Given the description of an element on the screen output the (x, y) to click on. 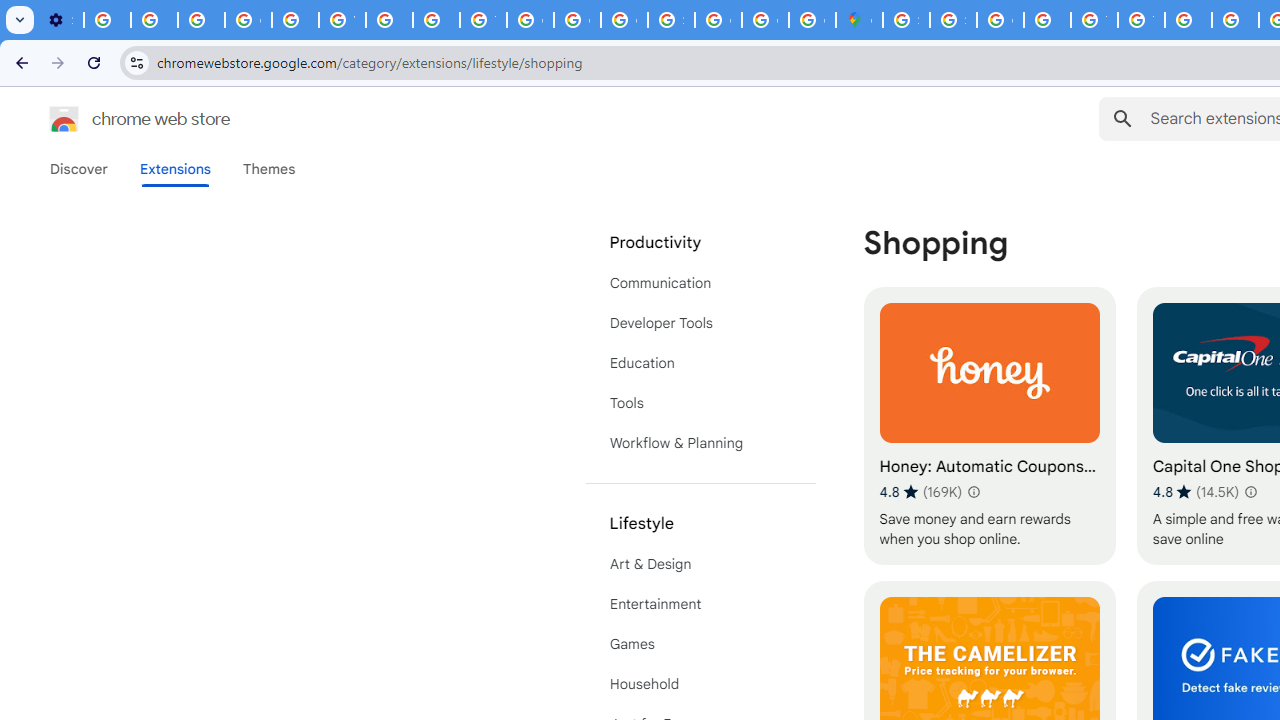
Settings - Customize profile (60, 20)
Sign in - Google Accounts (906, 20)
Tools (700, 403)
Communication (700, 282)
Privacy Help Center - Policies Help (436, 20)
Honey: Automatic Coupons & Rewards (989, 426)
